Given the description of an element on the screen output the (x, y) to click on. 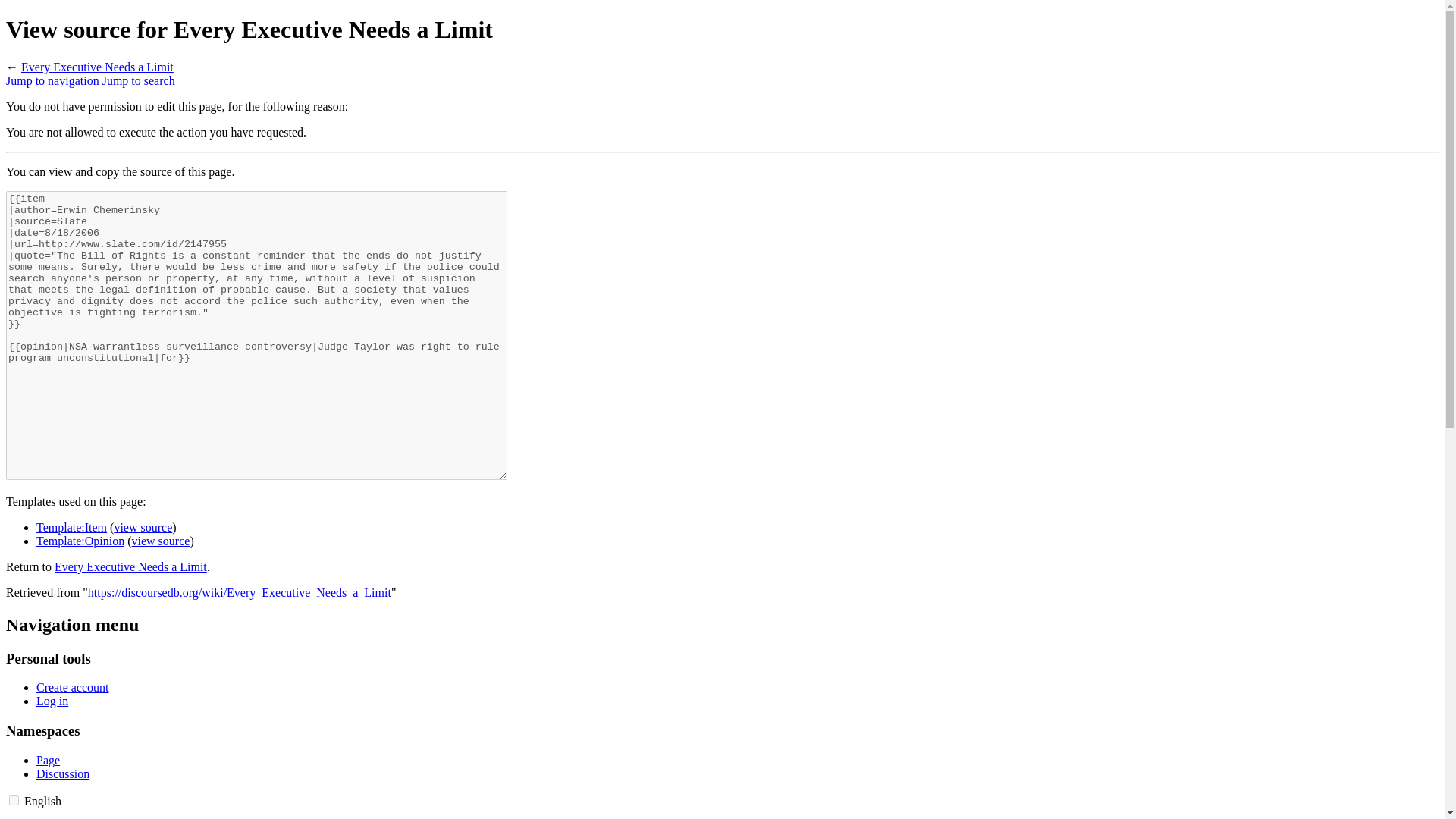
Page (47, 759)
Jump to navigation (52, 80)
Every Executive Needs a Limit (97, 66)
Jump to search (137, 80)
view source (161, 540)
view source (142, 526)
Every Executive Needs a Limit (130, 566)
Template:Item (71, 526)
Every Executive Needs a Limit (130, 566)
Log in (52, 700)
Every Executive Needs a Limit (97, 66)
Template:Opinion (79, 540)
Template:Item (142, 526)
Discussion (62, 773)
